Given the description of an element on the screen output the (x, y) to click on. 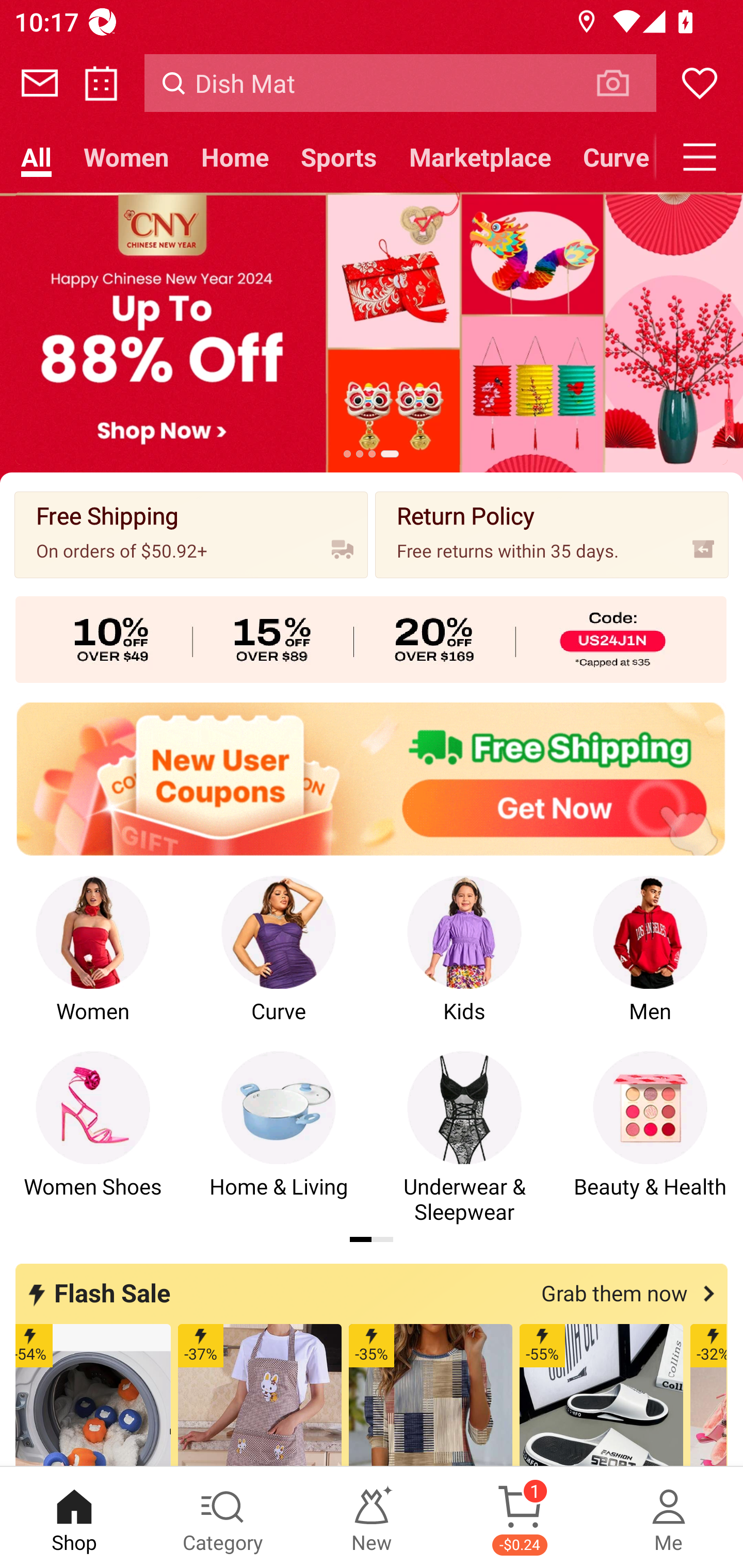
Wishlist (699, 82)
VISUAL SEARCH (623, 82)
All (36, 156)
Women (126, 156)
Home (234, 156)
Sports (338, 156)
Marketplace (479, 156)
Curve (611, 156)
Free Shipping On orders of $50.92+ (190, 534)
Return Policy Free returns within 35 days. (551, 534)
Women (92, 962)
Curve (278, 962)
Kids (464, 962)
Men (650, 962)
Women Shoes (92, 1138)
Home & Living (278, 1138)
Underwear & Sleepwear (464, 1138)
Beauty & Health (650, 1138)
Category (222, 1517)
New (371, 1517)
Cart 1 -$0.24 (519, 1517)
Me (668, 1517)
